Given the description of an element on the screen output the (x, y) to click on. 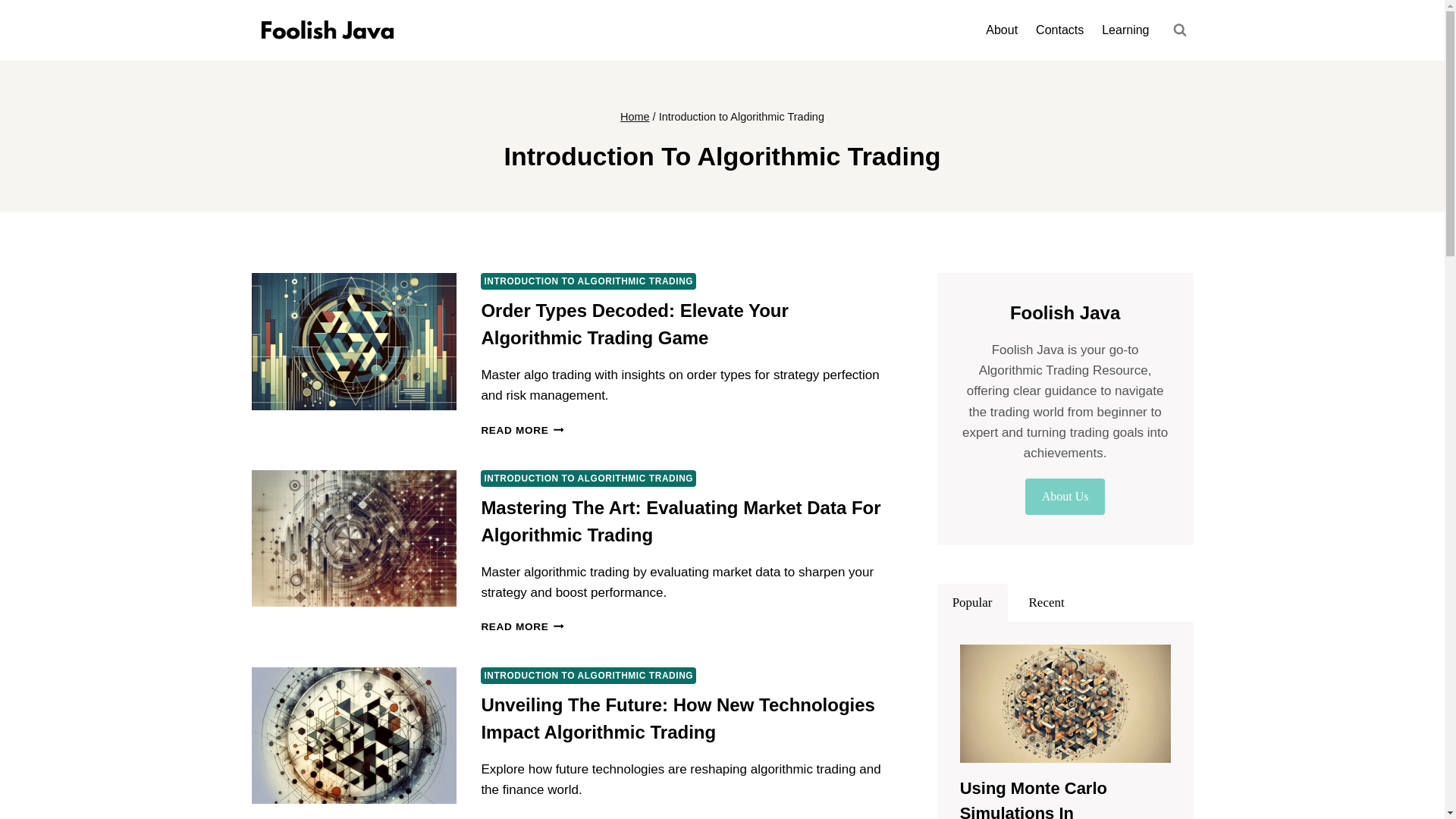
Home (634, 116)
Learning (1125, 30)
About (1001, 30)
INTRODUCTION TO ALGORITHMIC TRADING (587, 675)
INTRODUCTION TO ALGORITHMIC TRADING (587, 280)
Order Types Decoded: Elevate Your Algorithmic Trading Game (633, 324)
Contacts (1059, 30)
INTRODUCTION TO ALGORITHMIC TRADING (587, 478)
